Given the description of an element on the screen output the (x, y) to click on. 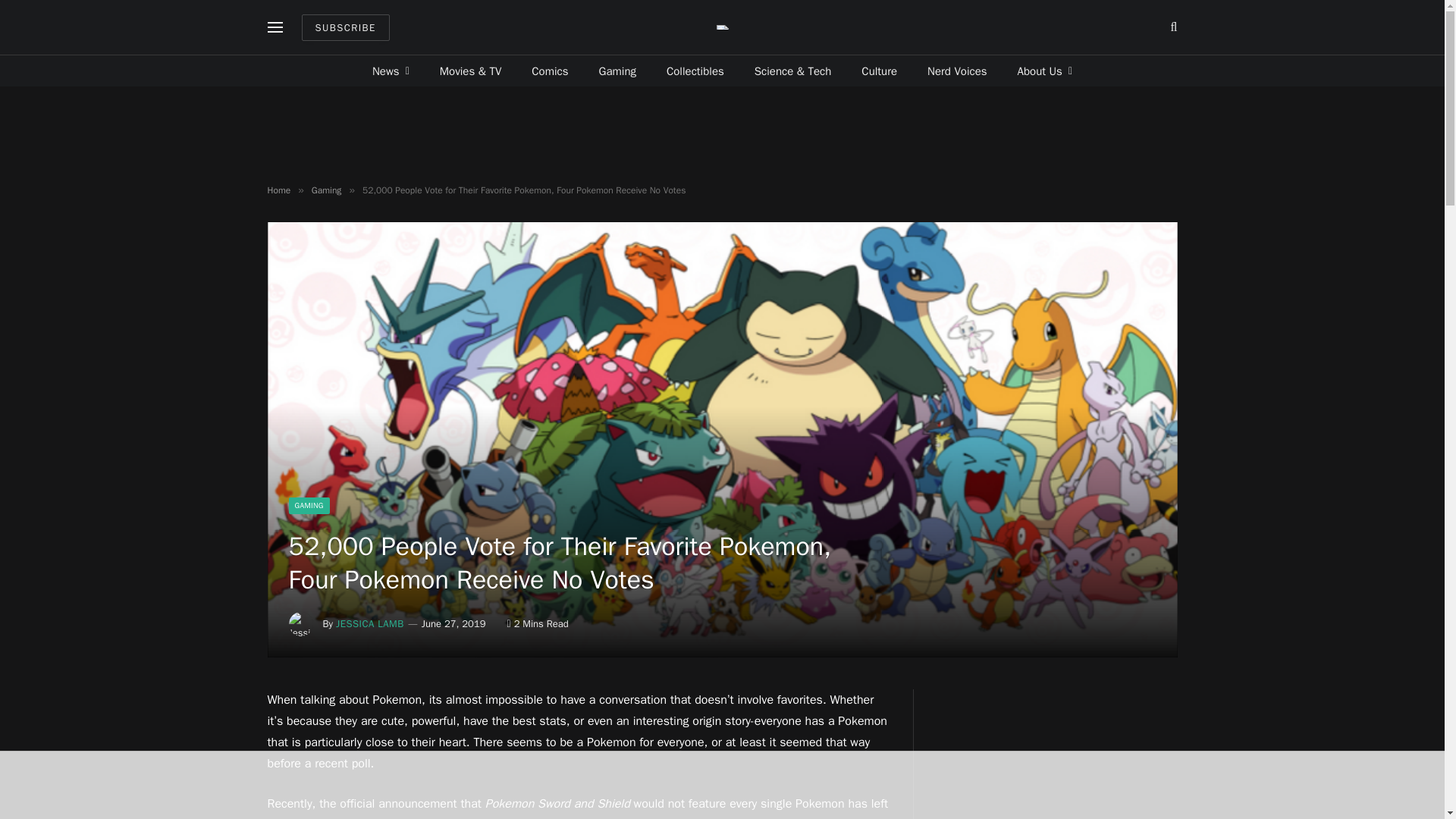
survey (766, 818)
JESSICA LAMB (370, 623)
Gaming (326, 190)
Culture (878, 70)
Gaming (616, 70)
GAMING (308, 505)
Posts by Jessica Lamb (370, 623)
SUBSCRIBE (345, 26)
Comics (549, 70)
Collectibles (694, 70)
